Given the description of an element on the screen output the (x, y) to click on. 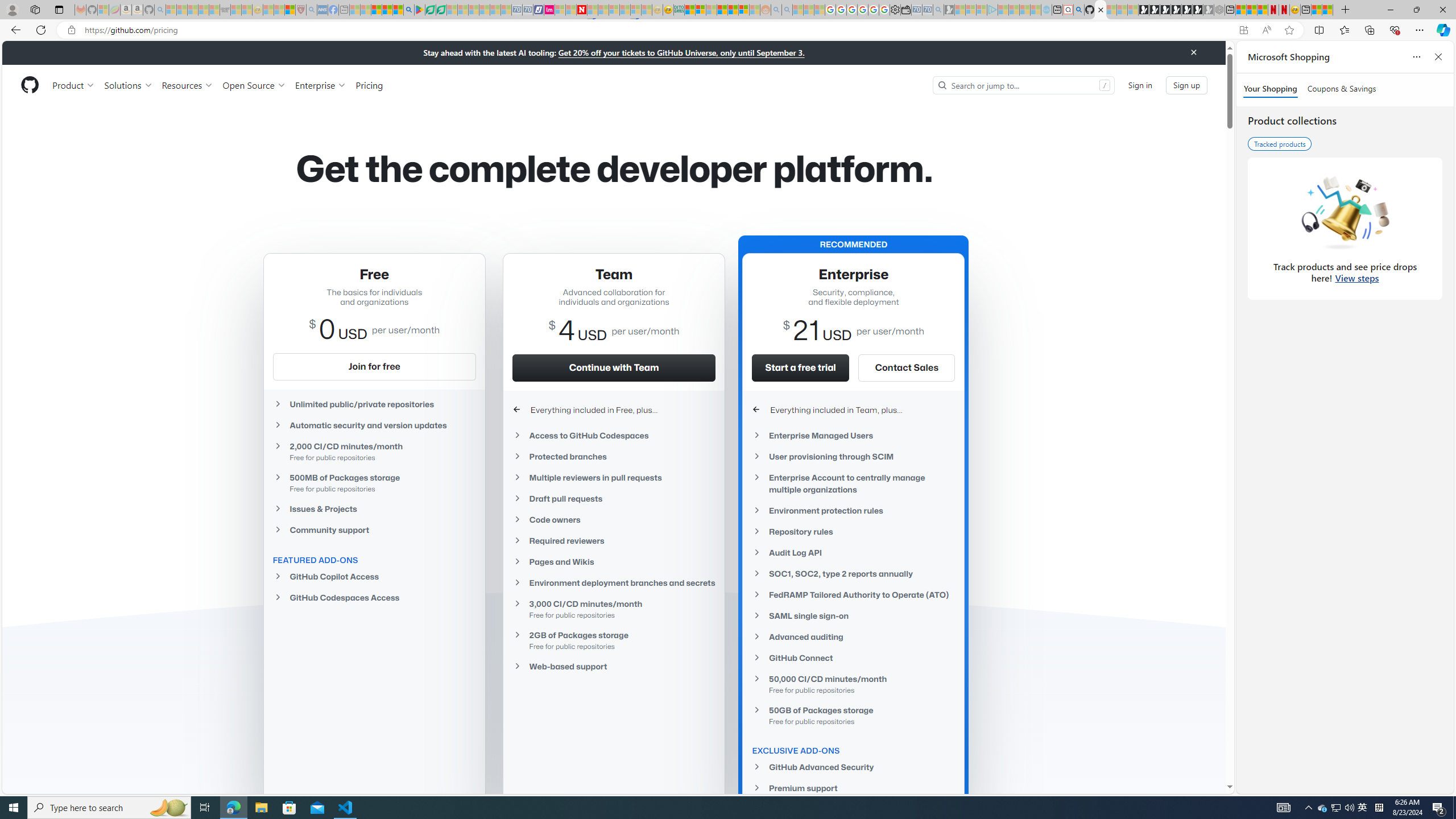
Access to GitHub Codespaces (614, 435)
SOC1, SOC2, type 2 reports annually (853, 573)
Resources (187, 84)
